Given the description of an element on the screen output the (x, y) to click on. 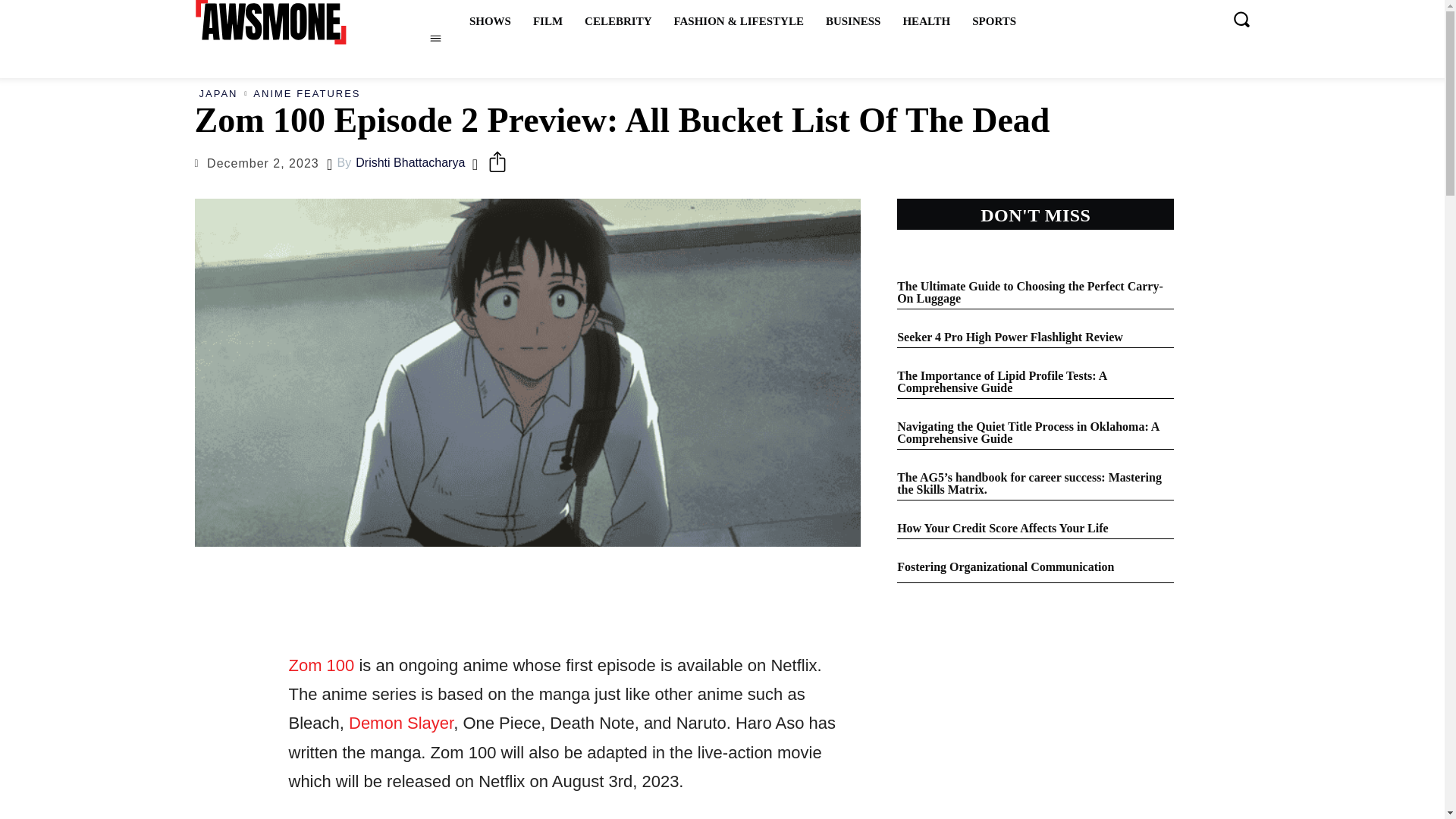
The Ultimate Guide to Choosing the Perfect Carry-On Luggage (1029, 292)
